Given the description of an element on the screen output the (x, y) to click on. 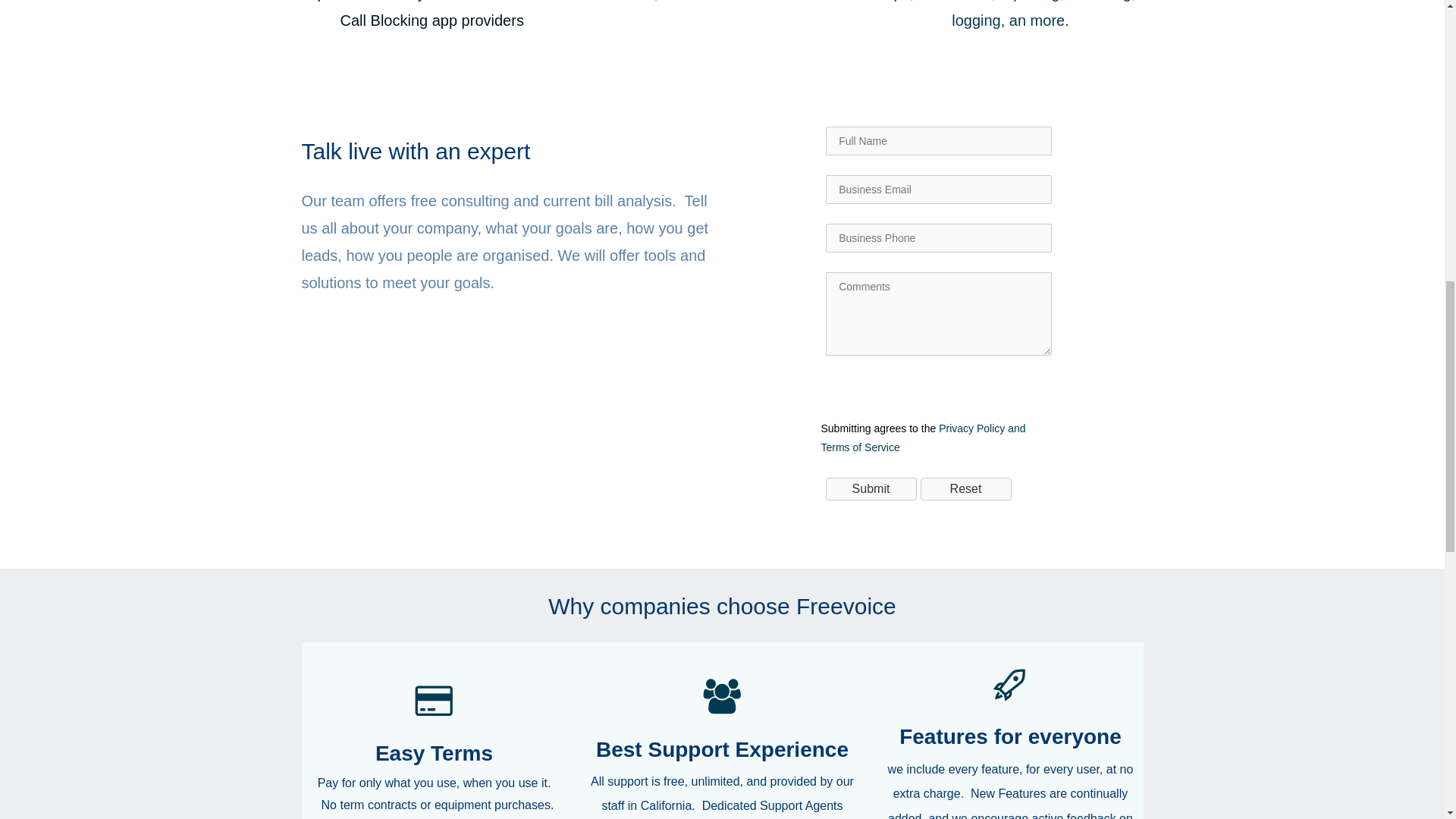
Submit (870, 489)
Submit (870, 489)
Reset (965, 489)
Reset (965, 489)
